Given the description of an element on the screen output the (x, y) to click on. 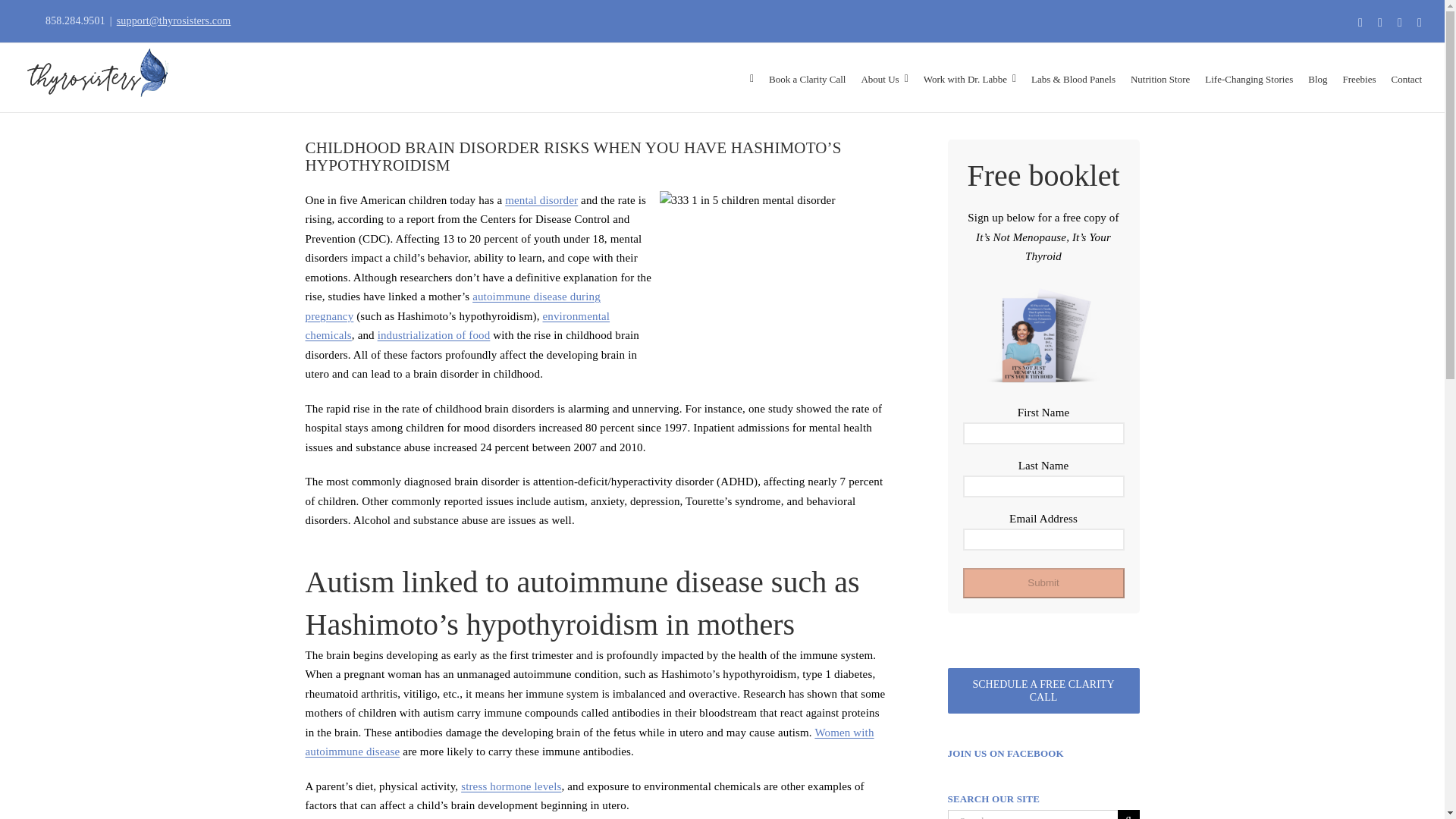
1 in 5 children mental disorder.jpg (772, 275)
Life-Changing Stories (1248, 77)
Book a Clarity Call (806, 77)
Work with Dr. Labbe (969, 77)
